Given the description of an element on the screen output the (x, y) to click on. 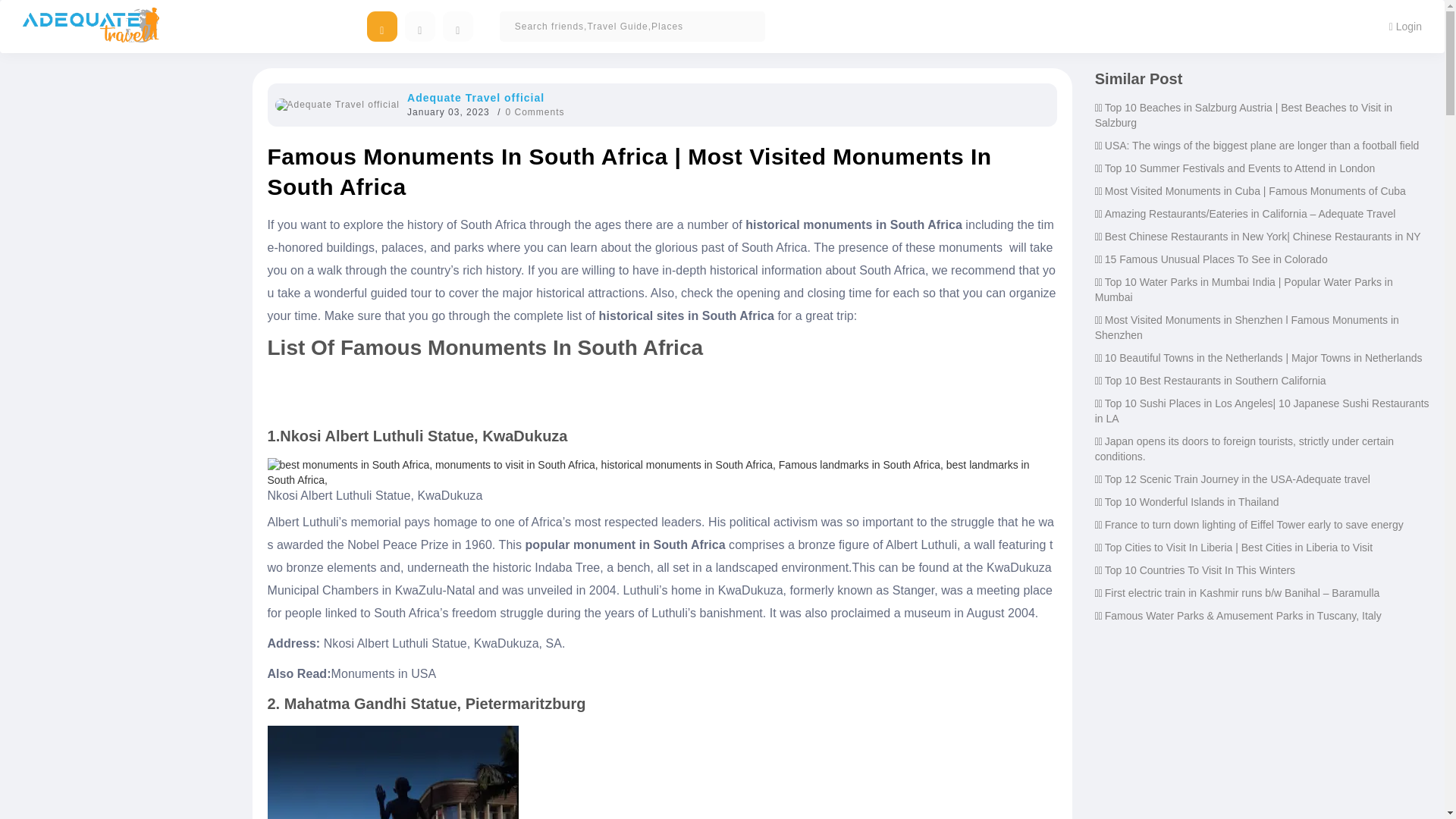
Adequate Travel official (475, 97)
15 Famous Unusual Places To See in Colorado (1216, 259)
Top 10 Wonderful Islands in Thailand (1192, 501)
Login (1404, 26)
Top 10 Summer Festivals and Events to Attend in London (1239, 168)
Top 10 Countries To Visit In This Winters (1200, 570)
Top 12 Scenic Train Journey in the USA-Adequate travel (1237, 479)
0 Comments (534, 112)
Monuments in USA (383, 673)
Top 10 Best Restaurants in Southern California (1215, 380)
